Given the description of an element on the screen output the (x, y) to click on. 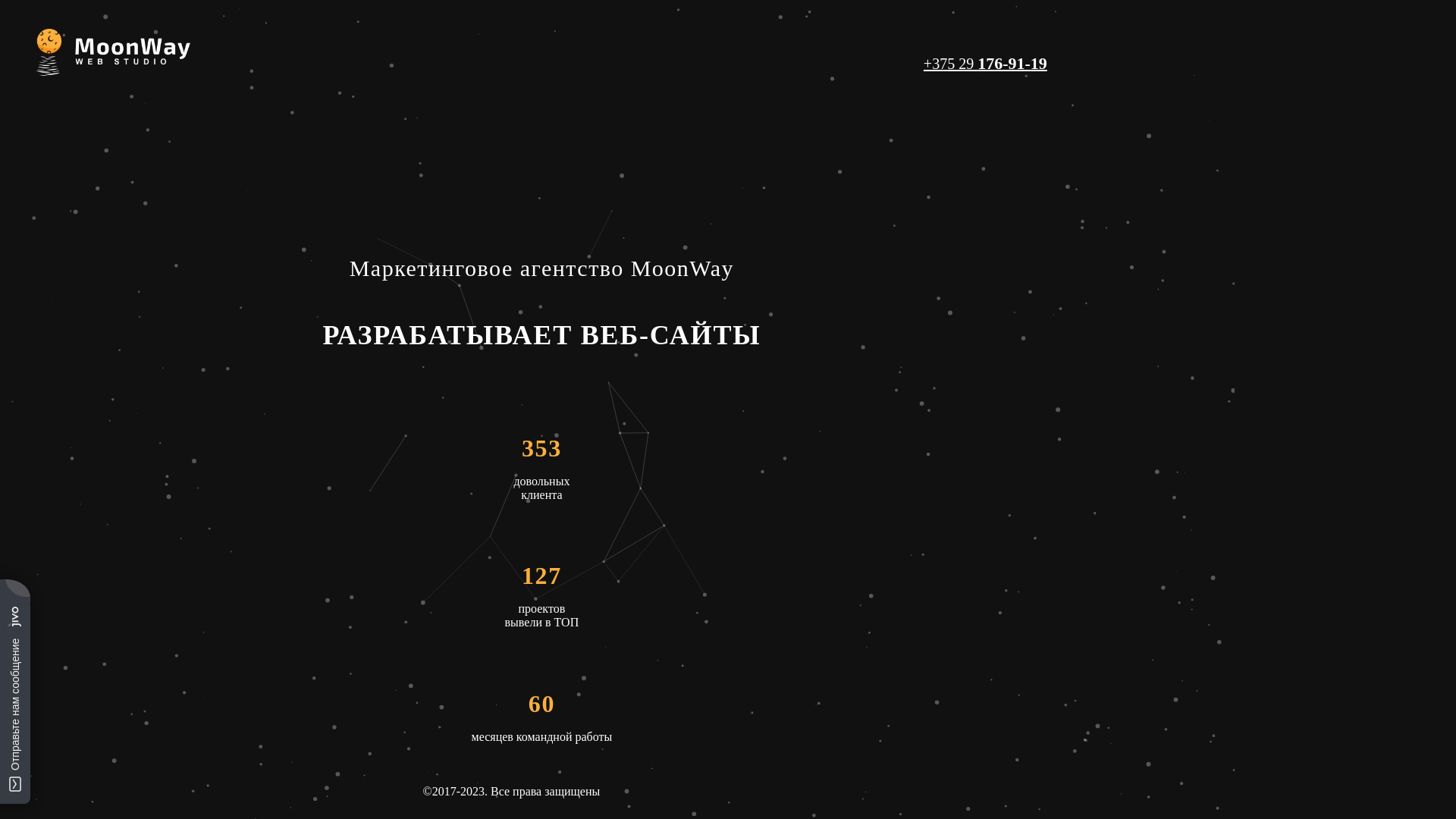
+375 29 176-91-19 Element type: text (985, 63)
